Given the description of an element on the screen output the (x, y) to click on. 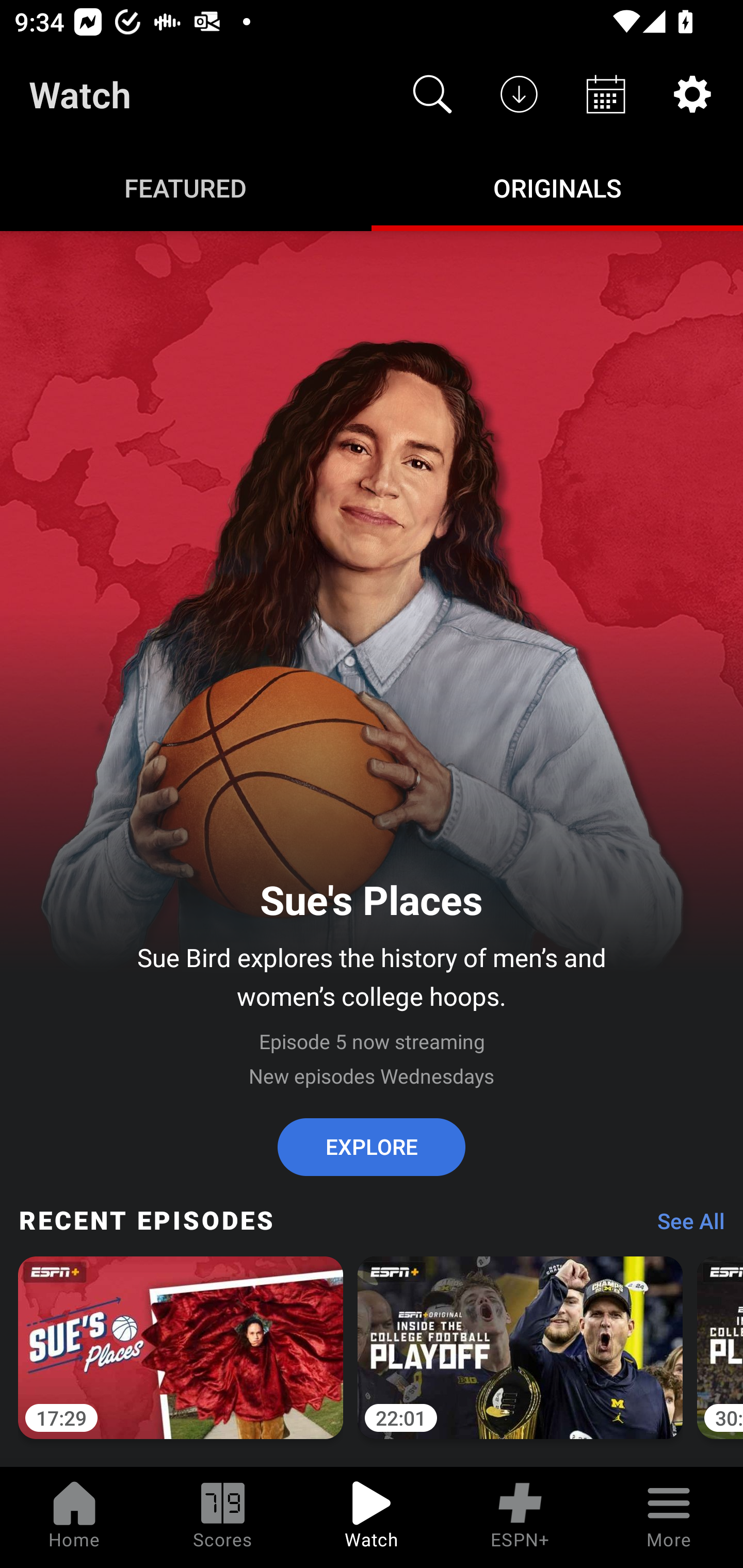
Search (432, 93)
Downloads (518, 93)
Schedule (605, 93)
Settings (692, 93)
Featured FEATURED (185, 187)
EXPLORE (371, 1146)
See All (683, 1225)
17:29 Bird is the Word (Ep. 5) (180, 1358)
22:01 Nobody Better (Ep. 4) (519, 1358)
Home (74, 1517)
Scores (222, 1517)
ESPN+ (519, 1517)
More (668, 1517)
